Given the description of an element on the screen output the (x, y) to click on. 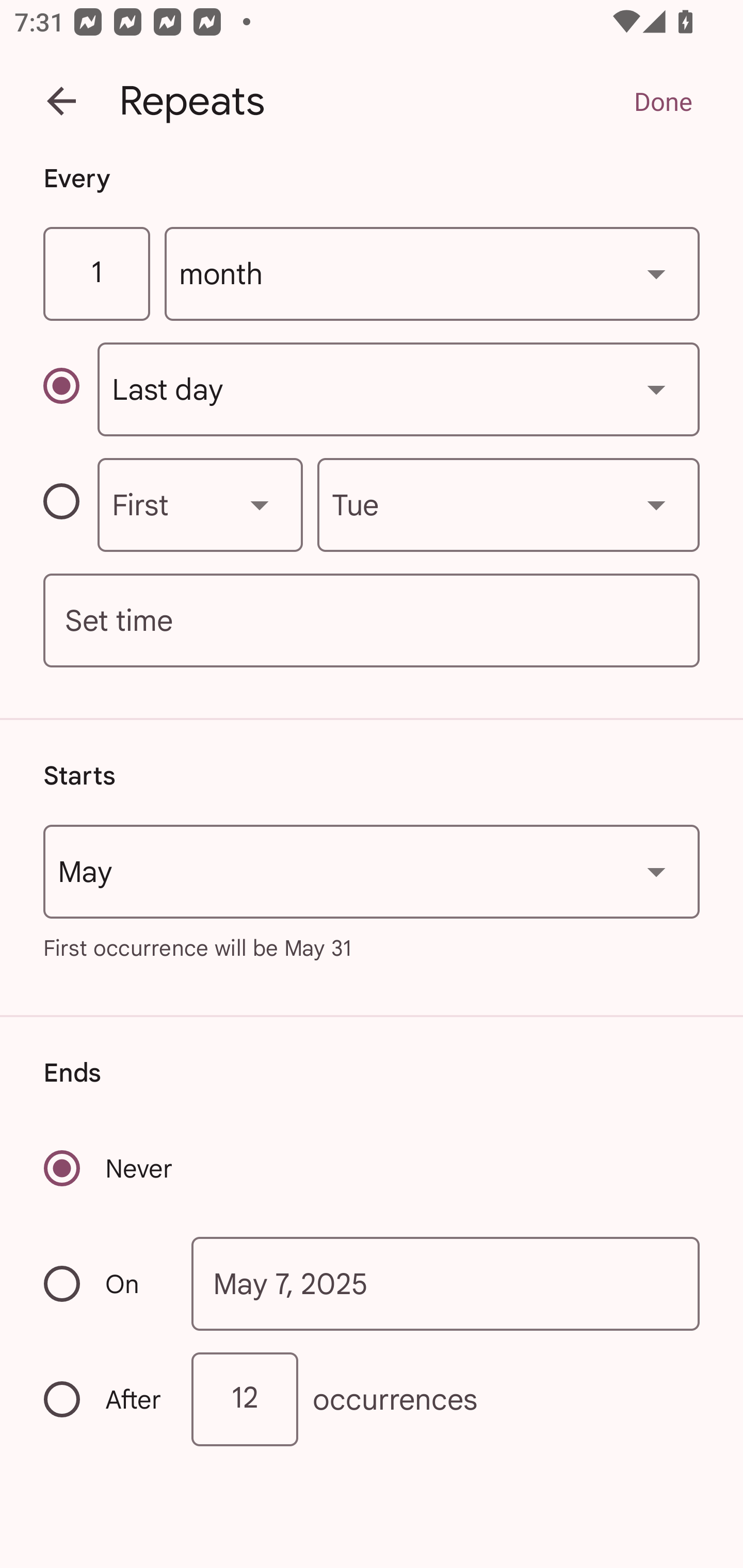
Back (61, 101)
Done (663, 101)
1 (96, 274)
month (431, 274)
Show dropdown menu (655, 273)
Last day (398, 388)
Show dropdown menu (655, 389)
Repeat monthly on a specific day of the month (70, 389)
First (200, 504)
Tue (508, 504)
Show dropdown menu (259, 504)
Show dropdown menu (655, 504)
Repeat monthly on a specific weekday (70, 504)
Set time (371, 620)
May (371, 871)
Show dropdown menu (655, 871)
Never Recurrence never ends (109, 1168)
May 7, 2025 (445, 1284)
On Recurrence ends on a specific date (104, 1283)
12 (244, 1398)
